Given the description of an element on the screen output the (x, y) to click on. 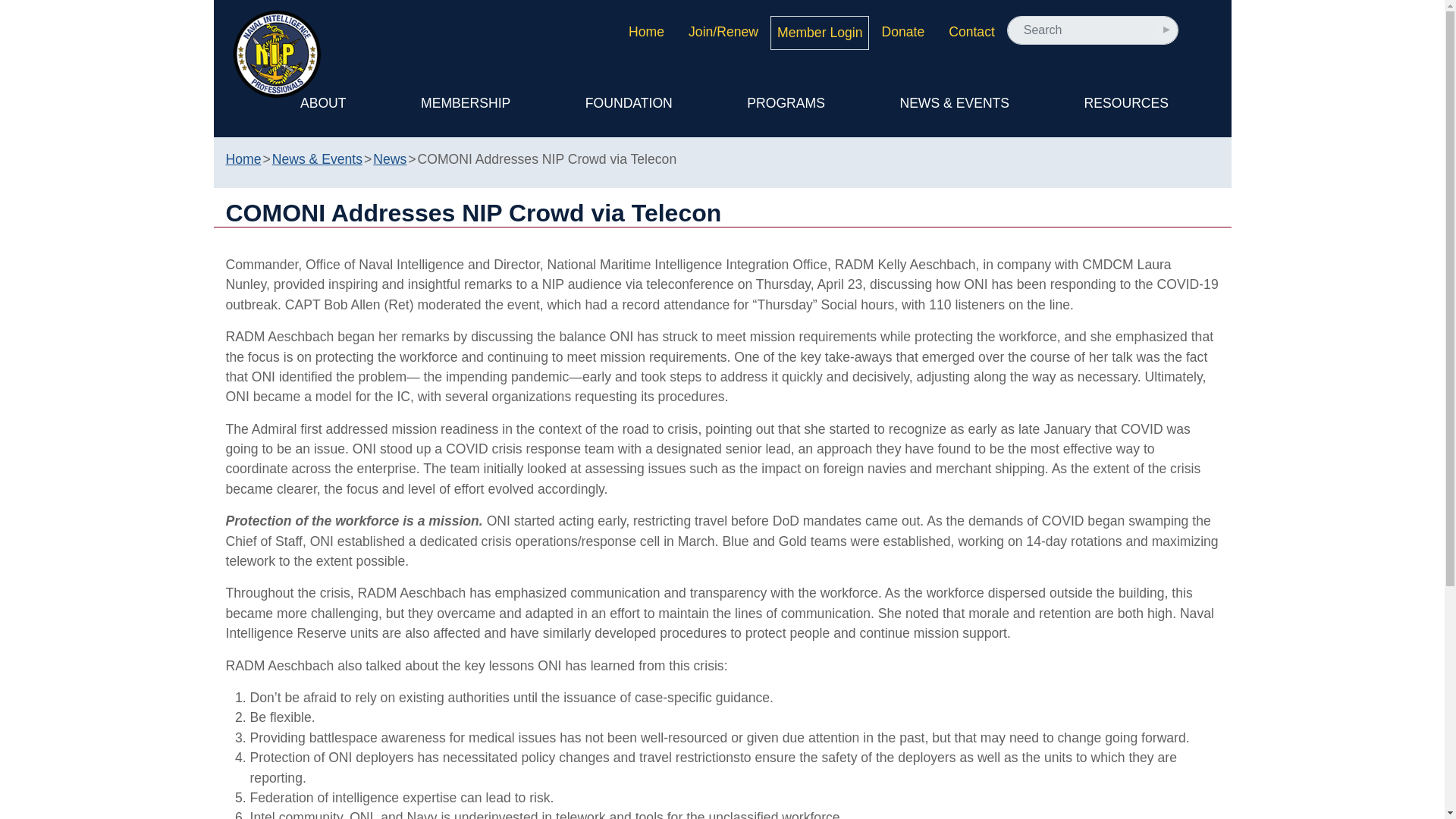
FOUNDATION (628, 102)
Home (645, 31)
PROGRAMS (786, 102)
Member Login (819, 32)
ABOUT (323, 102)
Contact (971, 31)
MEMBERSHIP (465, 102)
RESOURCES (1125, 102)
Donate (902, 31)
